Given the description of an element on the screen output the (x, y) to click on. 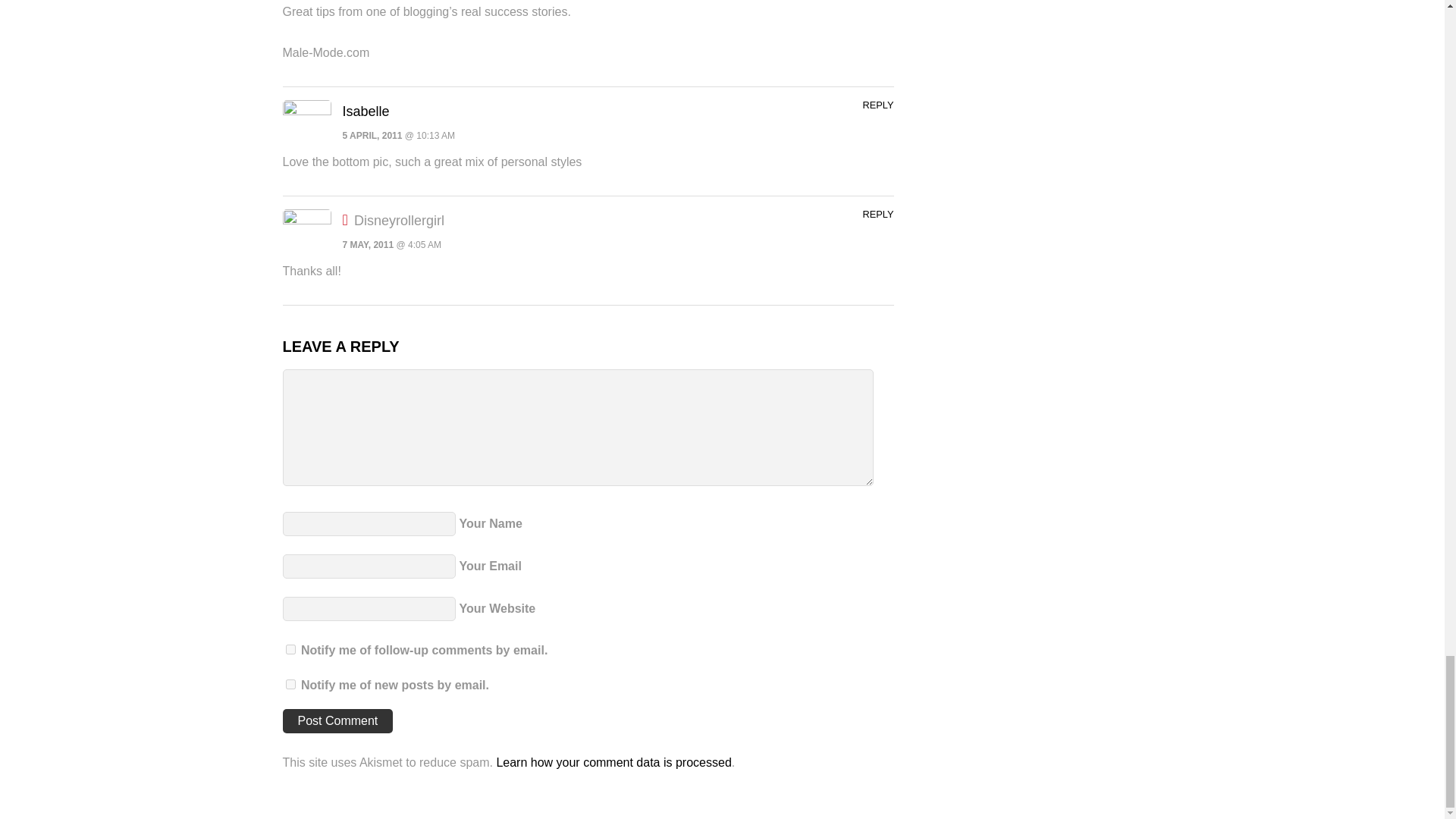
REPLY (877, 104)
Learn how your comment data is processed (613, 762)
Isabelle (366, 111)
subscribe (290, 649)
subscribe (290, 684)
Post Comment (337, 721)
Post Comment (337, 721)
REPLY (877, 214)
